Given the description of an element on the screen output the (x, y) to click on. 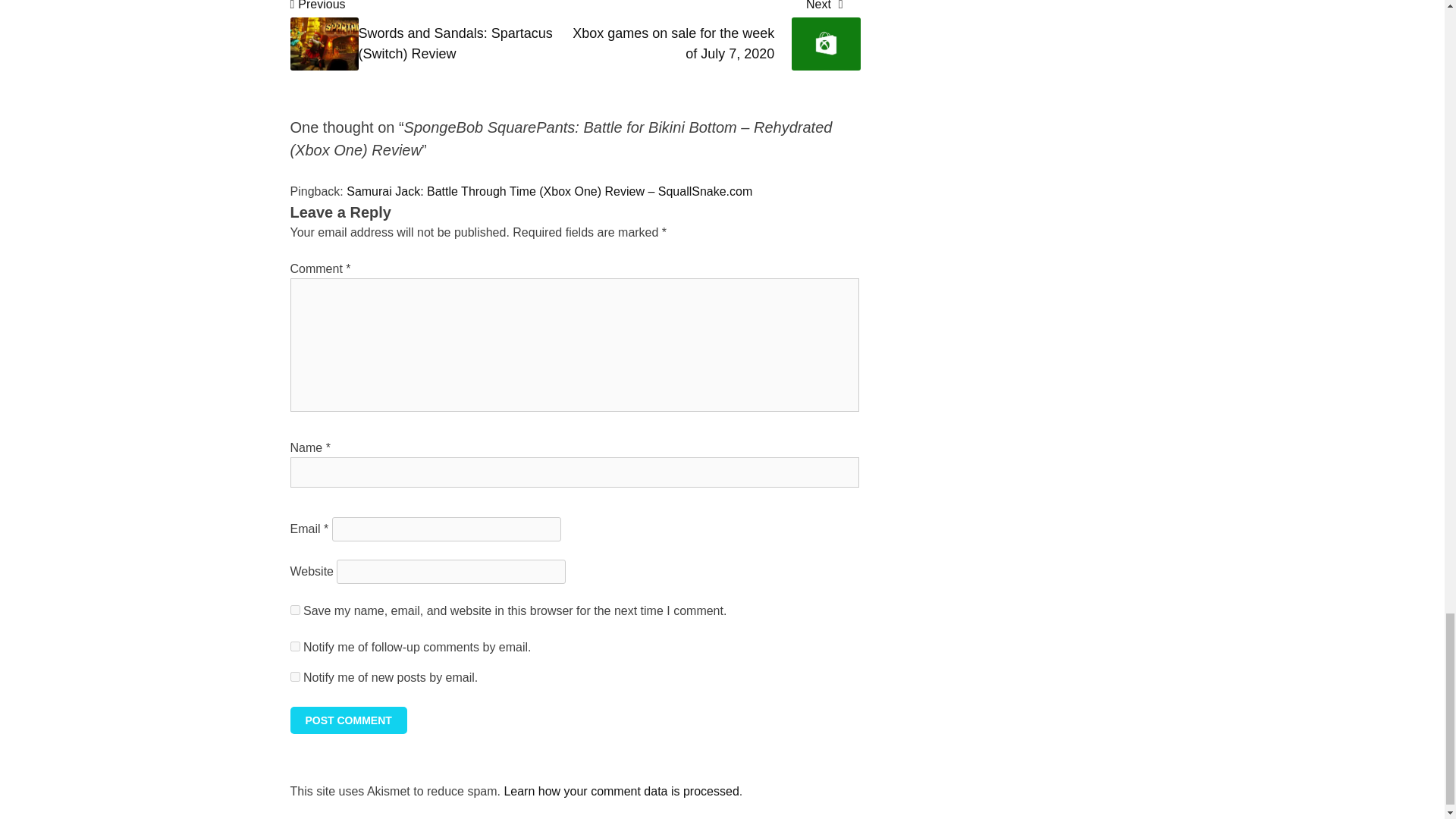
yes (294, 610)
subscribe (294, 646)
Post Comment (347, 719)
subscribe (294, 676)
